Given the description of an element on the screen output the (x, y) to click on. 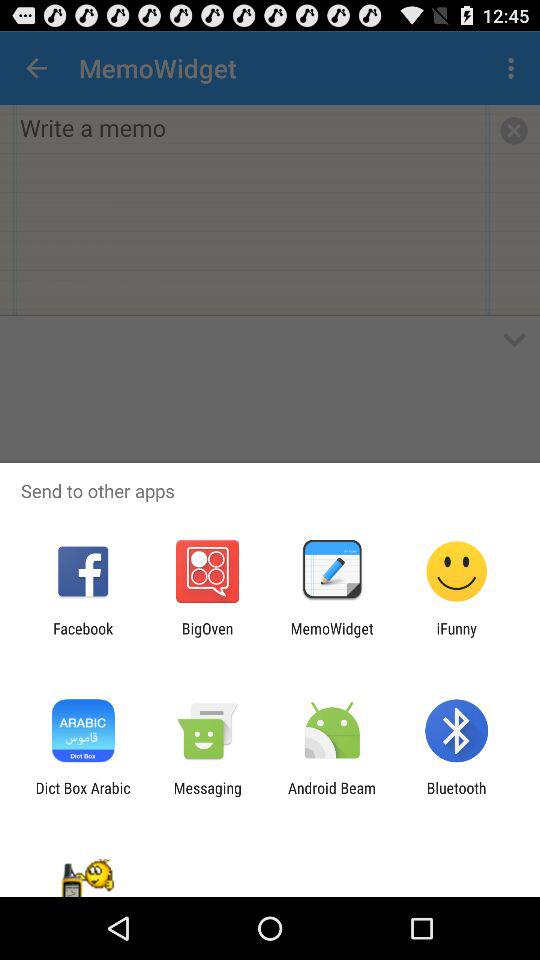
turn on icon next to the android beam app (456, 796)
